Given the description of an element on the screen output the (x, y) to click on. 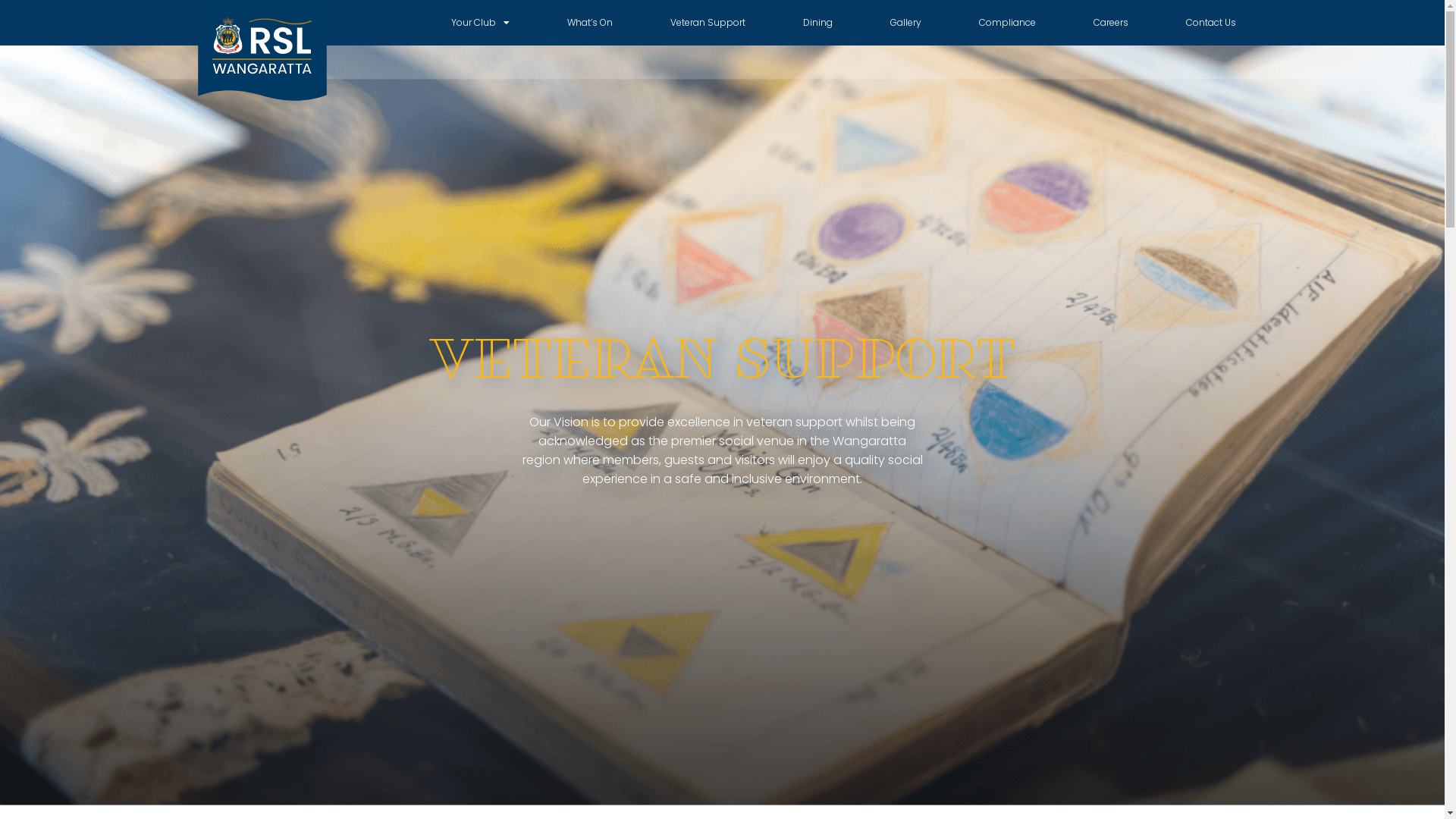
Dining Element type: text (817, 22)
Your Club Element type: text (480, 22)
Contact Us Element type: text (1210, 22)
Veteran Support Element type: text (707, 22)
Gallery Element type: text (905, 22)
Careers Element type: text (1110, 22)
Compliance Element type: text (1007, 22)
